Given the description of an element on the screen output the (x, y) to click on. 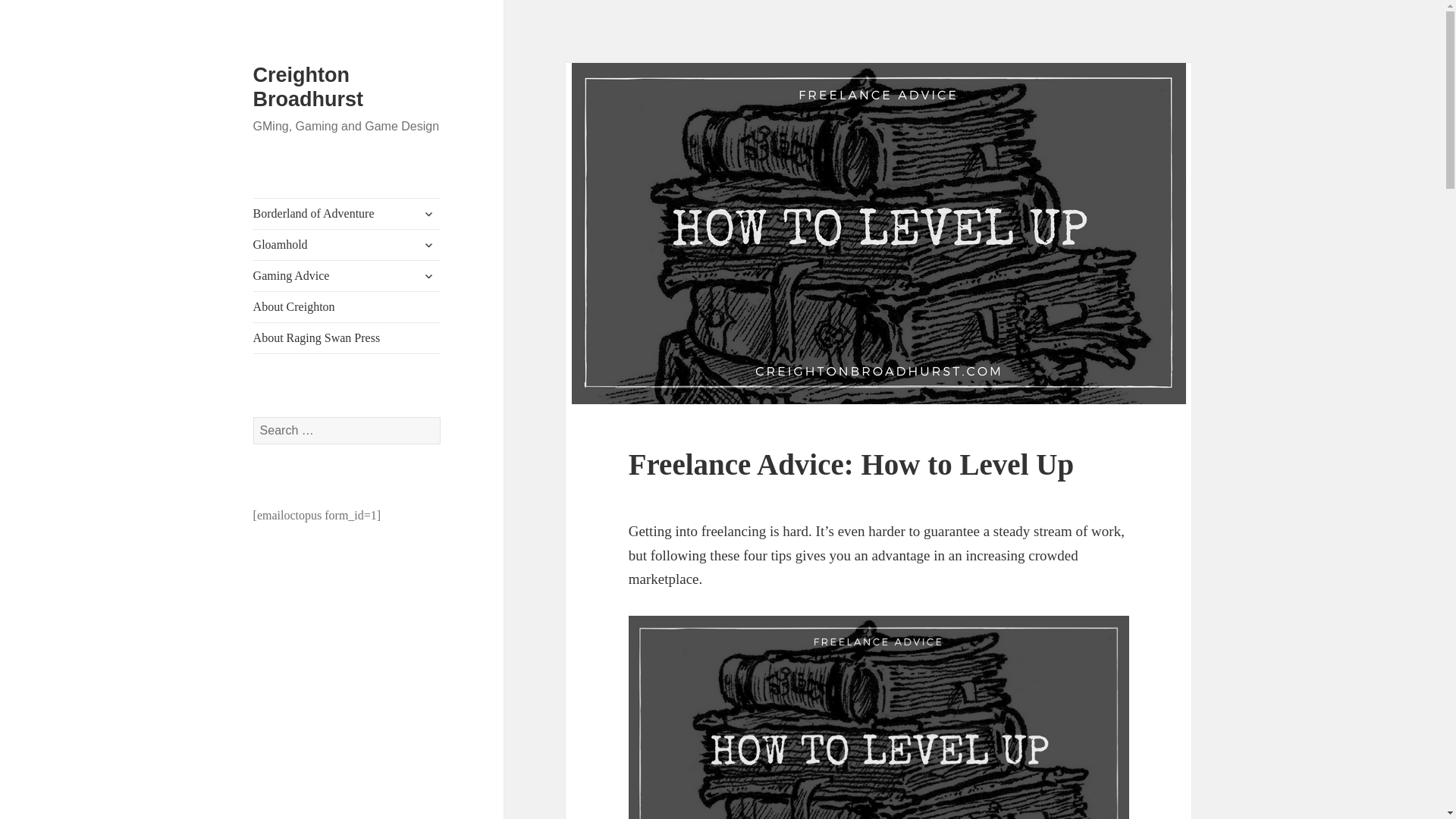
expand child menu (428, 213)
expand child menu (428, 275)
About Creighton (347, 306)
Gaming Advice (347, 276)
expand child menu (428, 244)
Gloamhold (347, 245)
Creighton Broadhurst (308, 86)
About Raging Swan Press (347, 337)
